Given the description of an element on the screen output the (x, y) to click on. 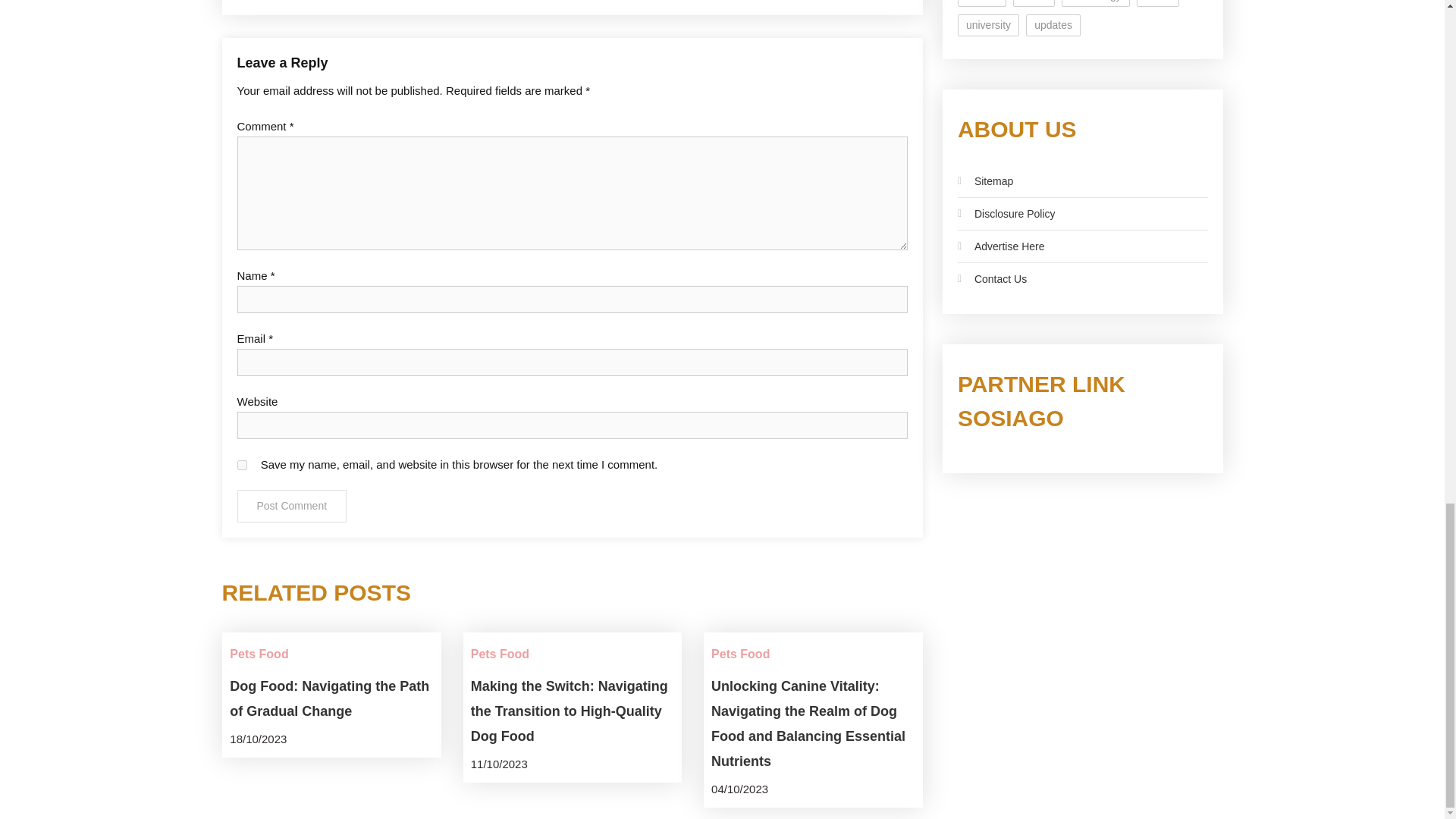
Post Comment (290, 505)
yes (240, 465)
Post Comment (290, 505)
